Given the description of an element on the screen output the (x, y) to click on. 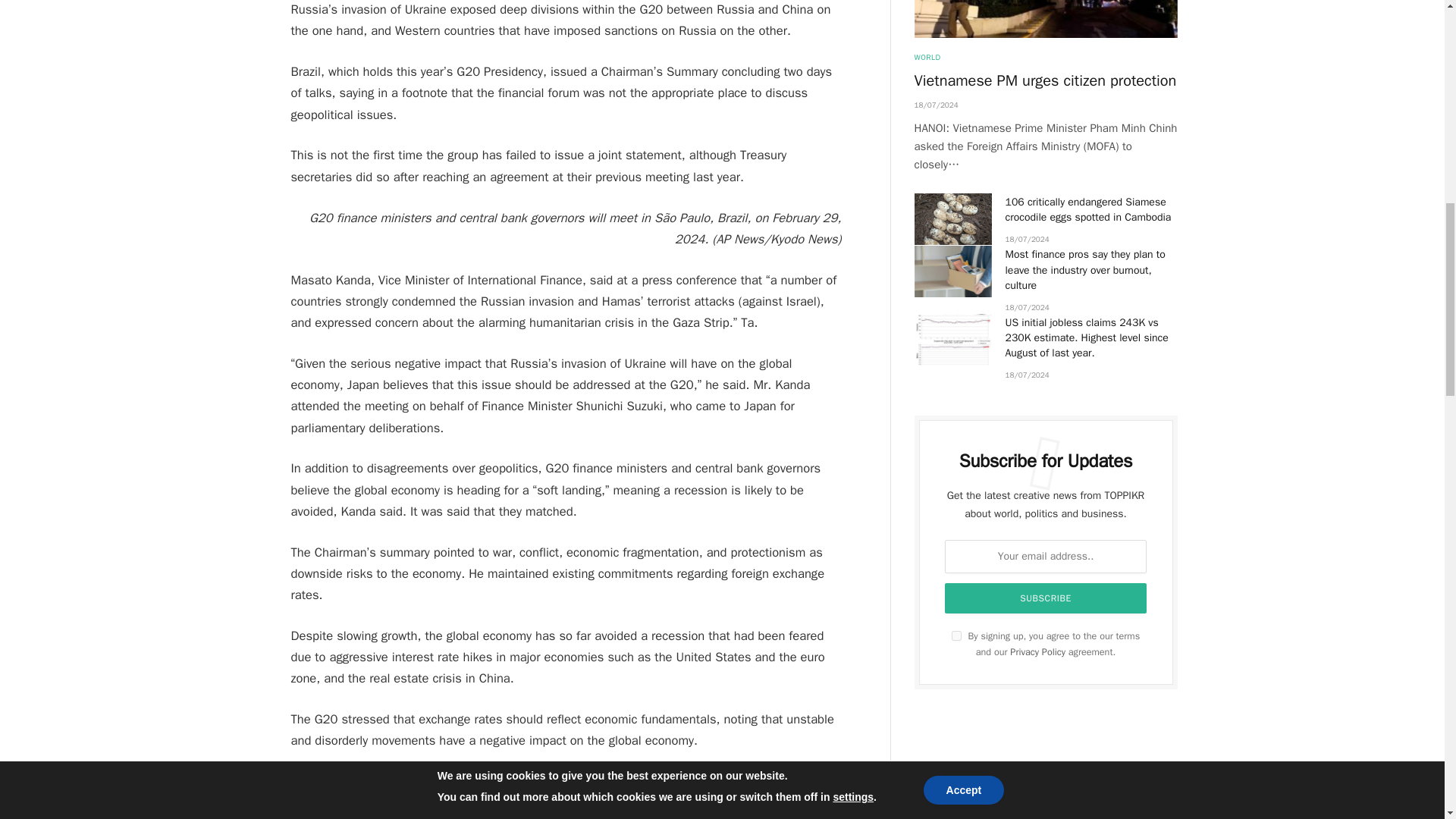
Subscribe (1045, 598)
on (956, 635)
